Given the description of an element on the screen output the (x, y) to click on. 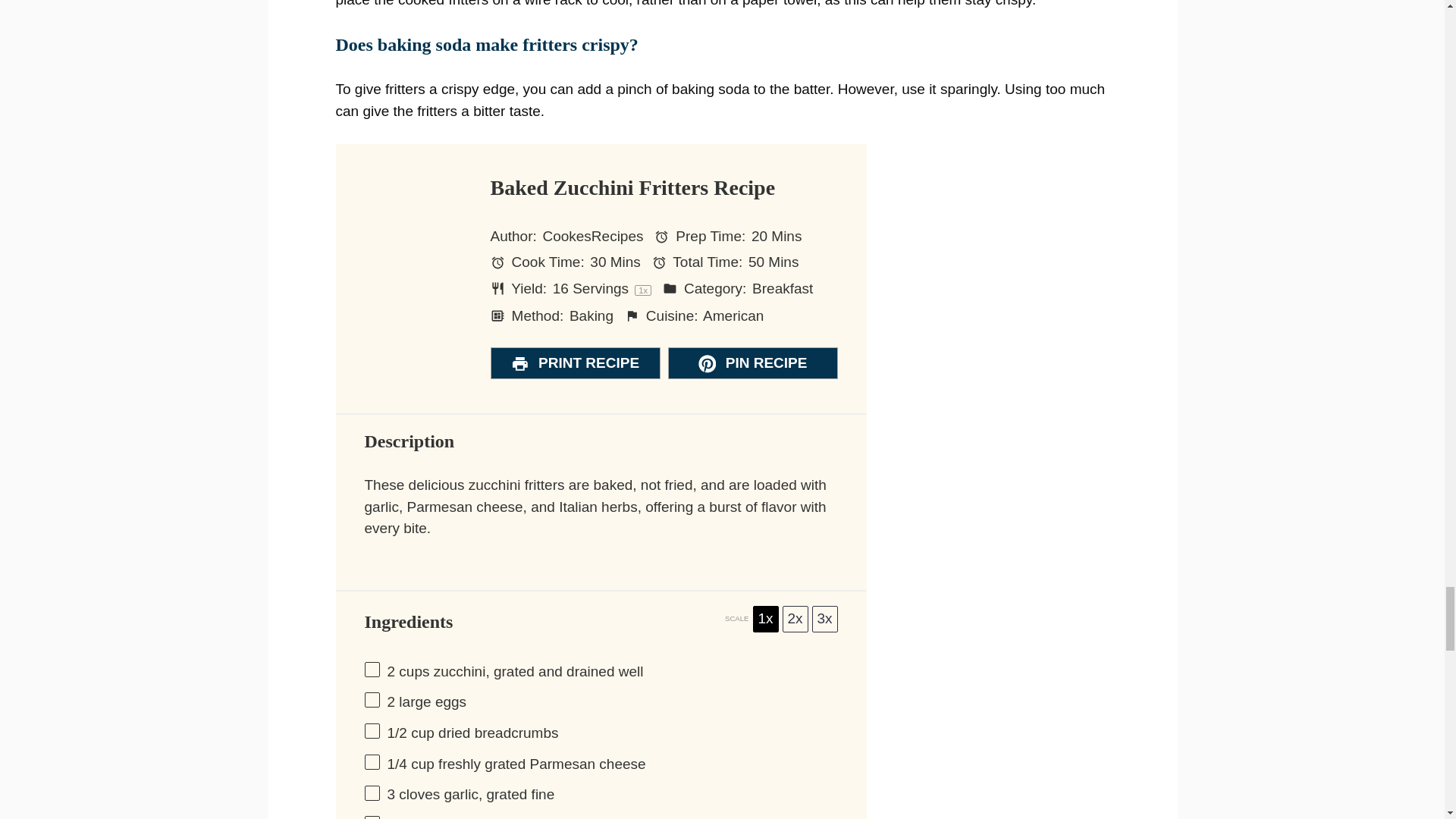
PIN RECIPE (751, 363)
1x (764, 619)
PRINT RECIPE (574, 363)
3x (823, 619)
2x (795, 619)
